Given the description of an element on the screen output the (x, y) to click on. 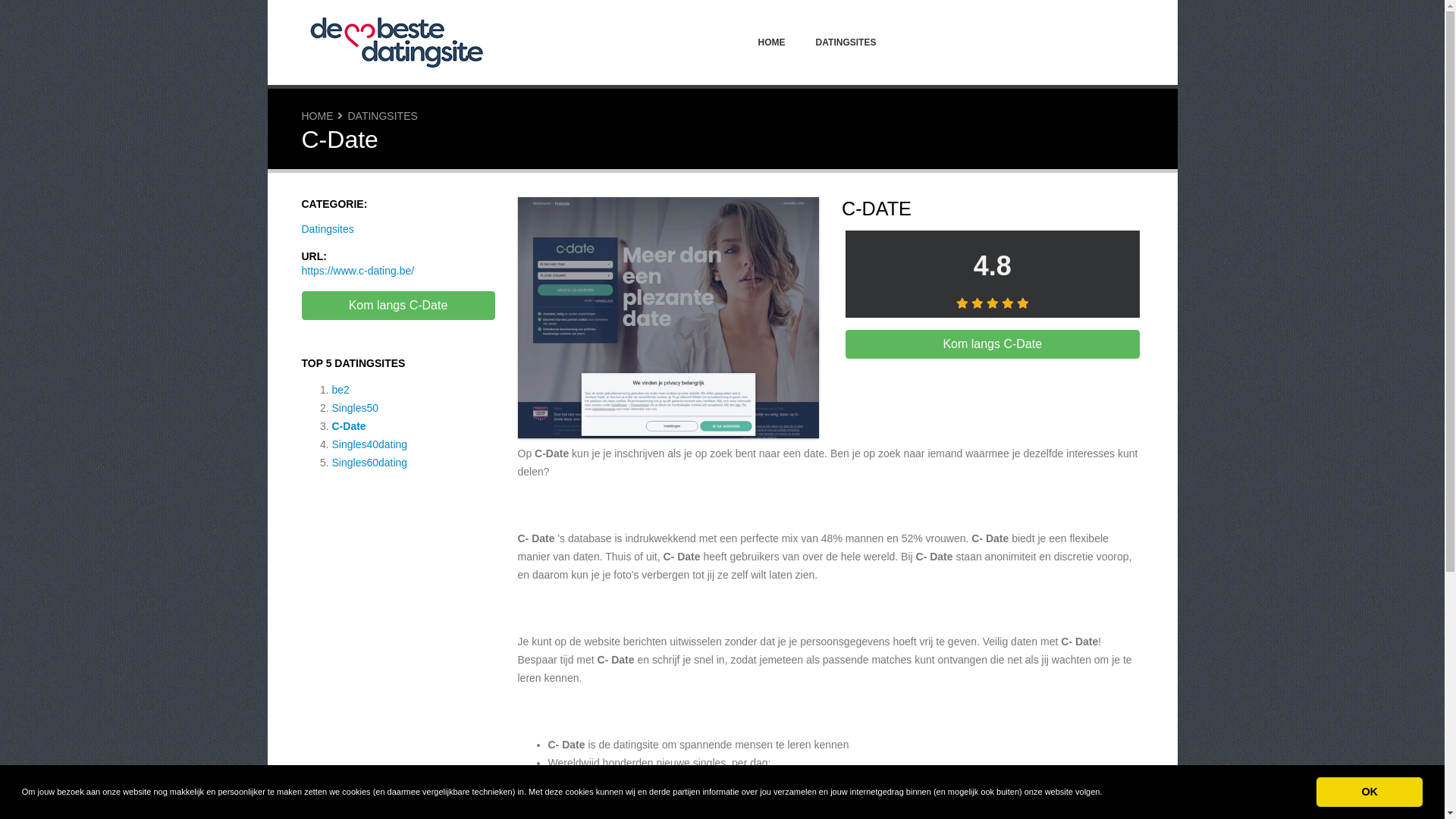
Kom langs C-Date Element type: text (398, 305)
Go to top Element type: hover (1403, 785)
Kom langs C-Date Element type: text (992, 343)
de-beste-datingsite.be Element type: hover (396, 42)
HOME Element type: text (317, 115)
C-Date Element type: text (349, 426)
Kom langs C-Date Element type: hover (668, 319)
DATINGSITES Element type: text (382, 115)
Singles60dating Element type: text (369, 462)
be2 Element type: text (340, 389)
Beoordeling: 4.8 Element type: hover (992, 303)
DATINGSITES Element type: text (845, 41)
Singles50 Element type: text (355, 407)
Singles40dating Element type: text (369, 444)
Datingsites Element type: text (327, 228)
HOME Element type: text (771, 41)
OK Element type: text (1369, 791)
https://www.c-dating.be/ Element type: text (357, 270)
